Given the description of an element on the screen output the (x, y) to click on. 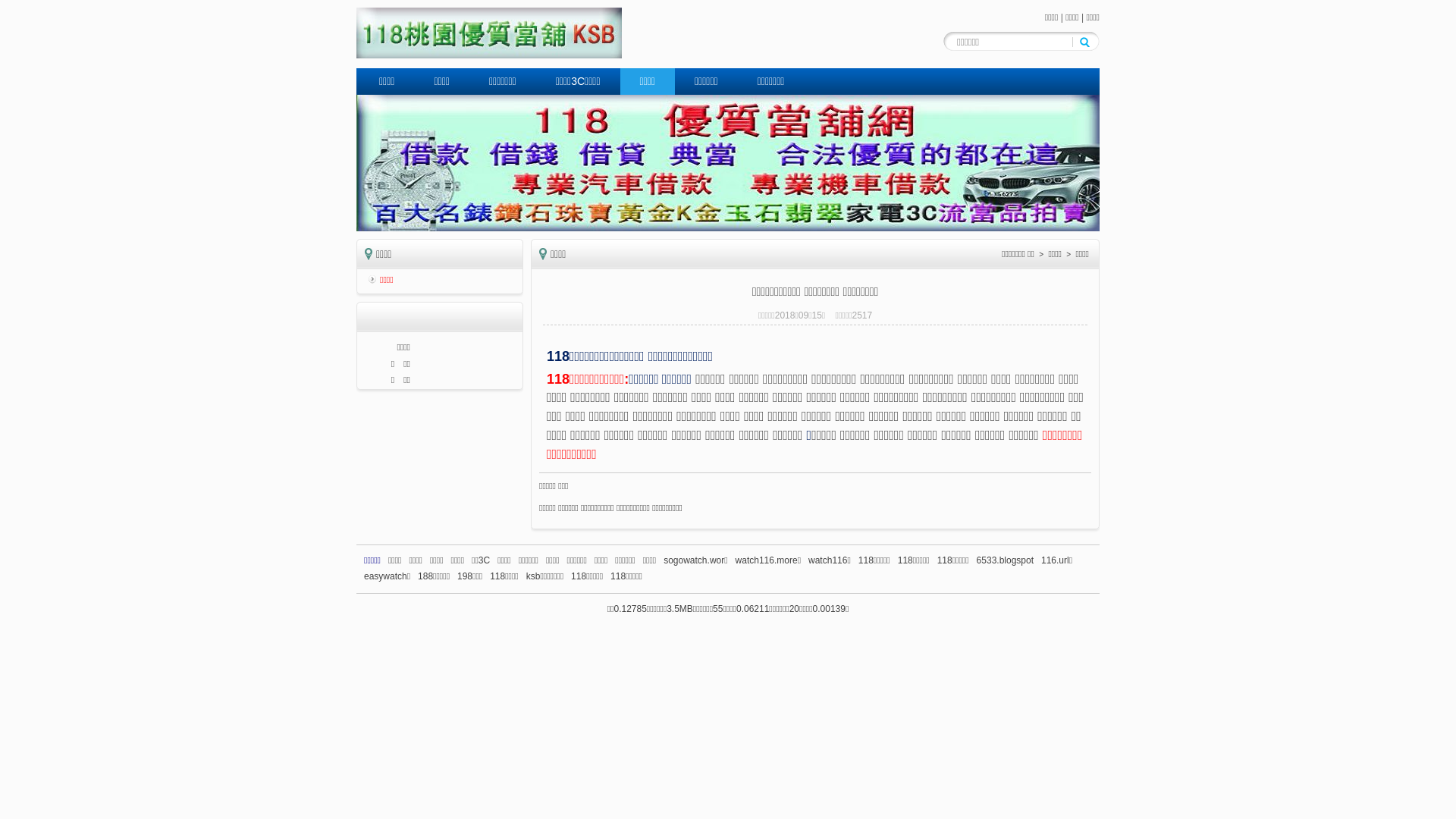
6533.blogspot Element type: text (1004, 560)
